Given the description of an element on the screen output the (x, y) to click on. 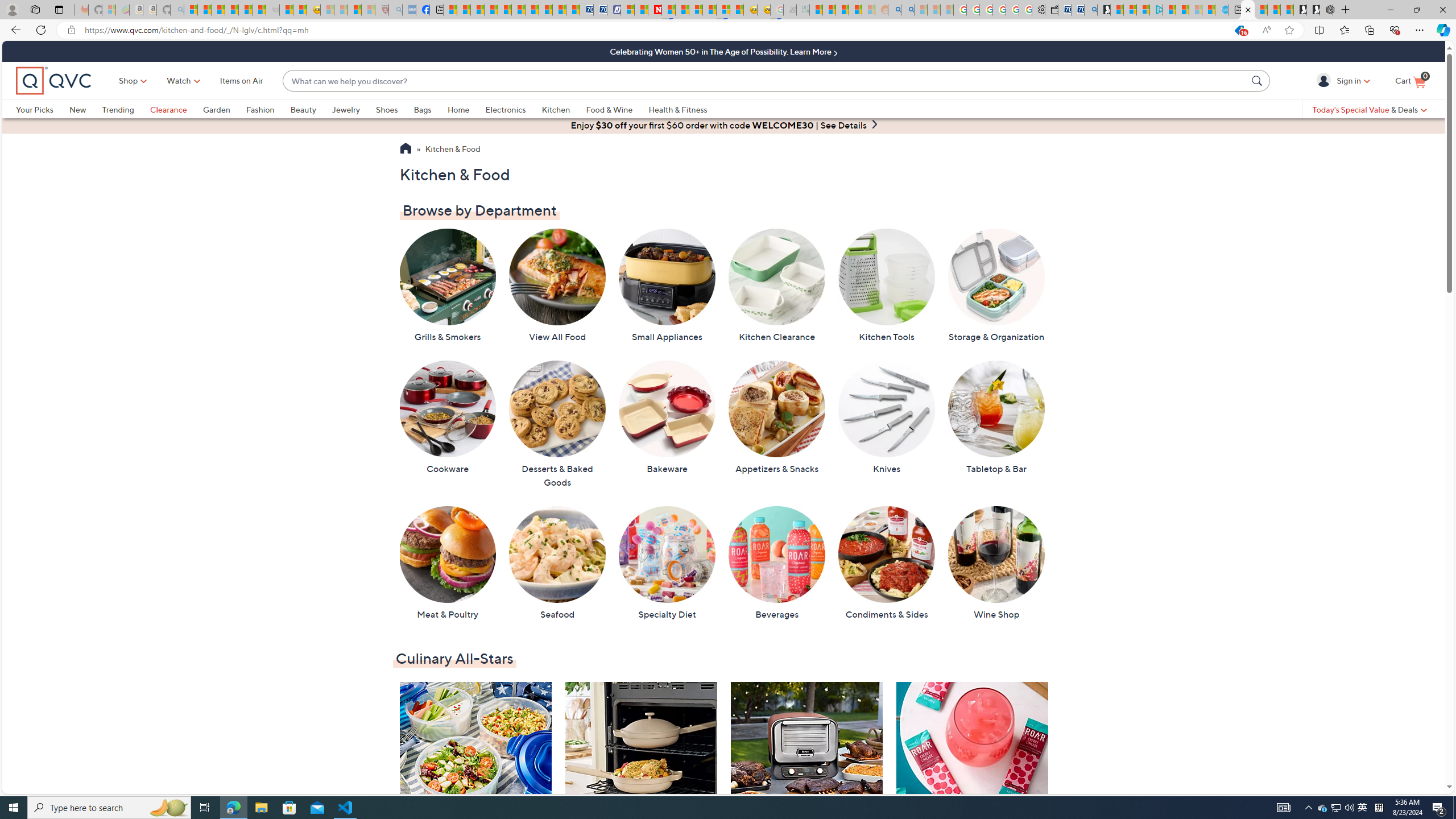
Small Appliances (666, 285)
Condiments & Sides (886, 562)
Cookware (447, 417)
Search Submit (1258, 80)
Kitchen & Food (452, 149)
Fashion (260, 109)
Food & Wine (609, 109)
